Given the description of an element on the screen output the (x, y) to click on. 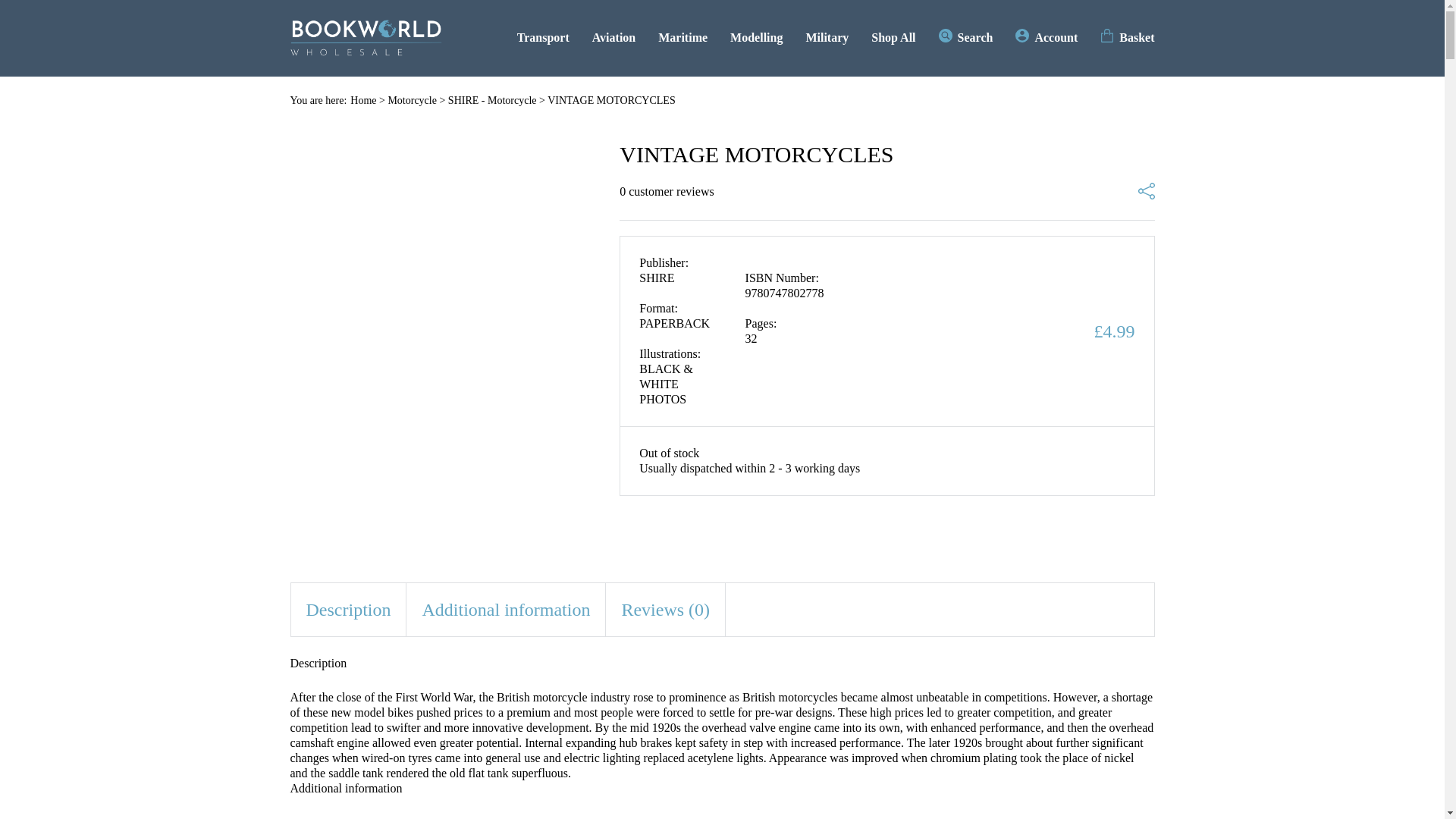
SHIRE - Motorcycle (492, 100)
Military (826, 37)
Description (349, 609)
Home (362, 100)
Account (1045, 37)
Aviation (613, 37)
Additional information (505, 609)
Shop All (892, 37)
Transport (542, 37)
0 customer reviews (666, 191)
